Given the description of an element on the screen output the (x, y) to click on. 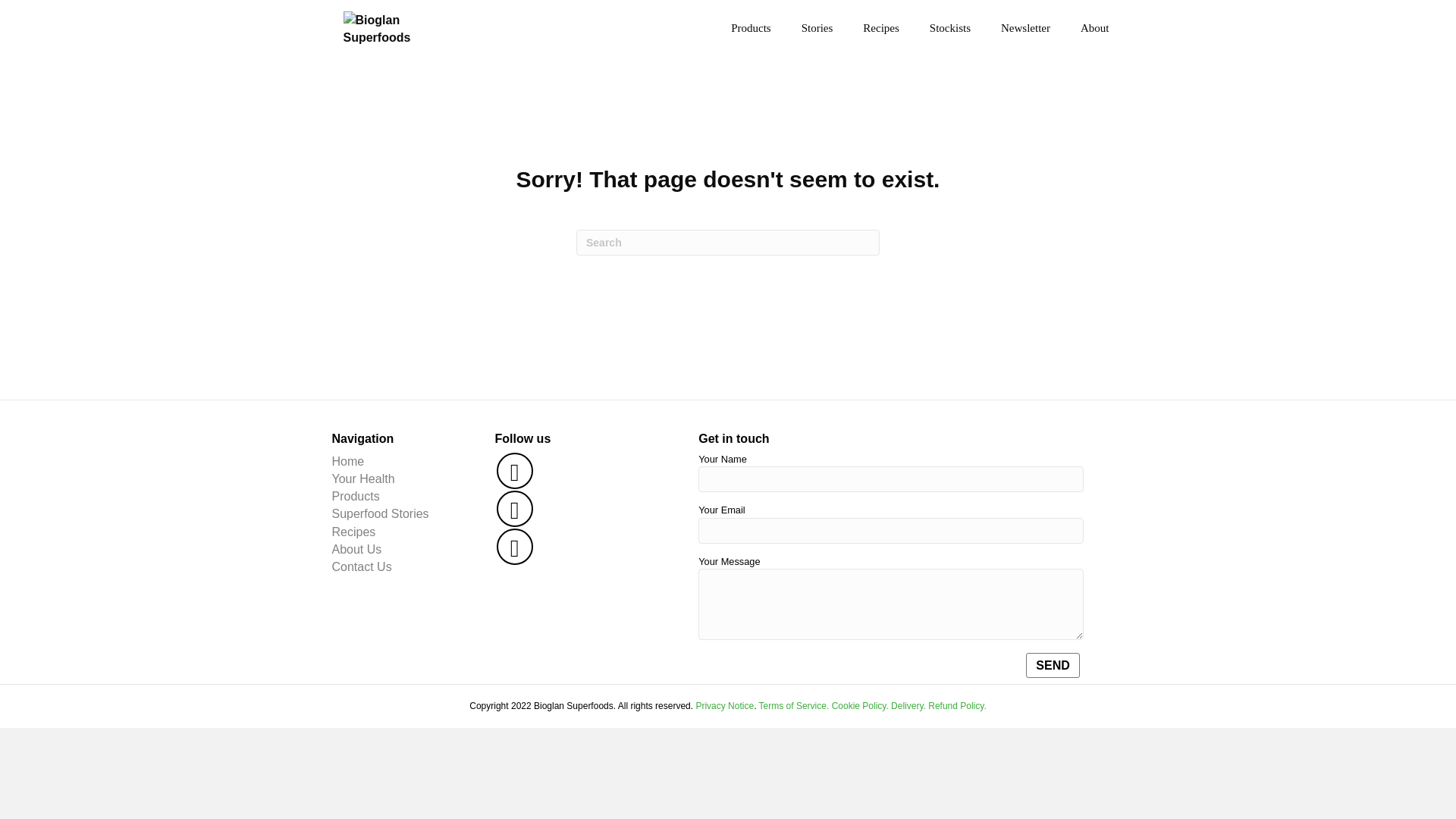
Recipes (880, 29)
Recipes (353, 531)
About Us (356, 549)
Send (1052, 664)
Products (355, 495)
Cookie Policy. (859, 706)
homepage (348, 461)
Products (355, 495)
Type and press Enter to search. (727, 242)
Terms of Service. (793, 706)
Home (348, 461)
Superfood Stories (380, 513)
About Us (356, 549)
Delivery. (908, 706)
Refund Policy. (956, 706)
